Given the description of an element on the screen output the (x, y) to click on. 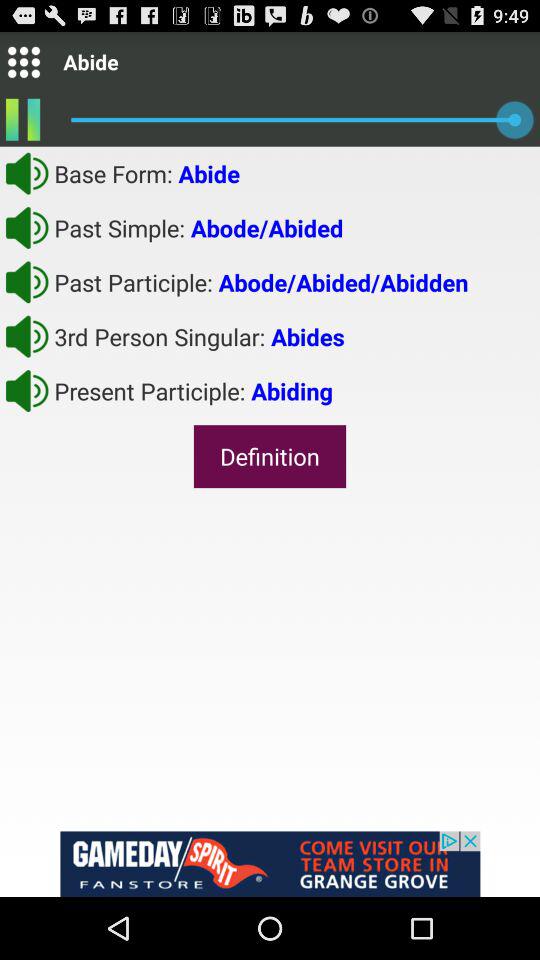
advertisement on the page (270, 864)
